Given the description of an element on the screen output the (x, y) to click on. 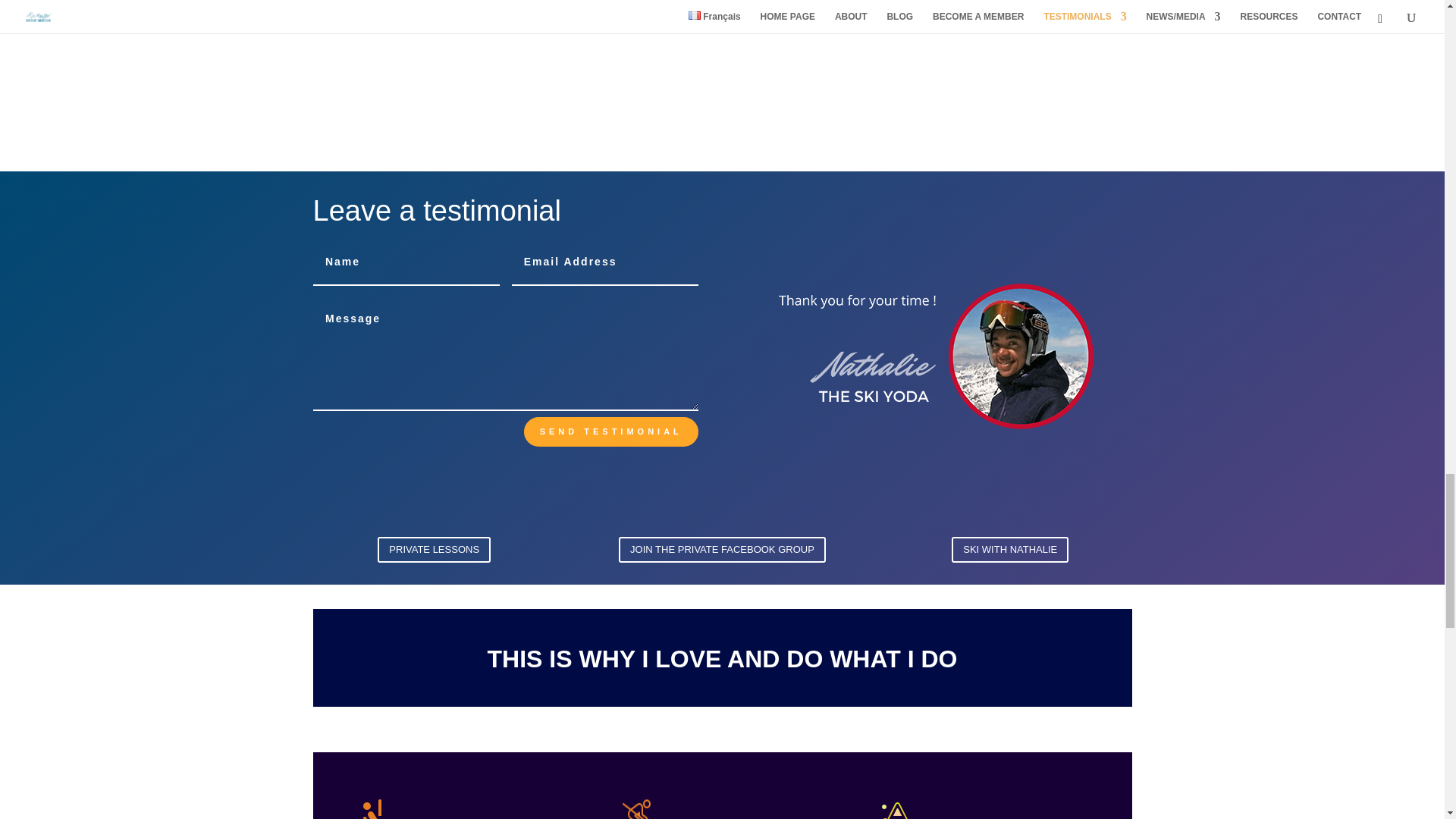
SKI WITH NATHALIE (1010, 549)
PRIVATE LESSONS (433, 549)
JOIN THE PRIVATE FACEBOOK GROUP (721, 549)
icons8-skiing-50 (633, 808)
SEND TESTIMONIAL (611, 431)
icons8-ski-lift-60 (380, 808)
gjhdfghdf (938, 355)
icons8-mountain-64 (894, 808)
